Given the description of an element on the screen output the (x, y) to click on. 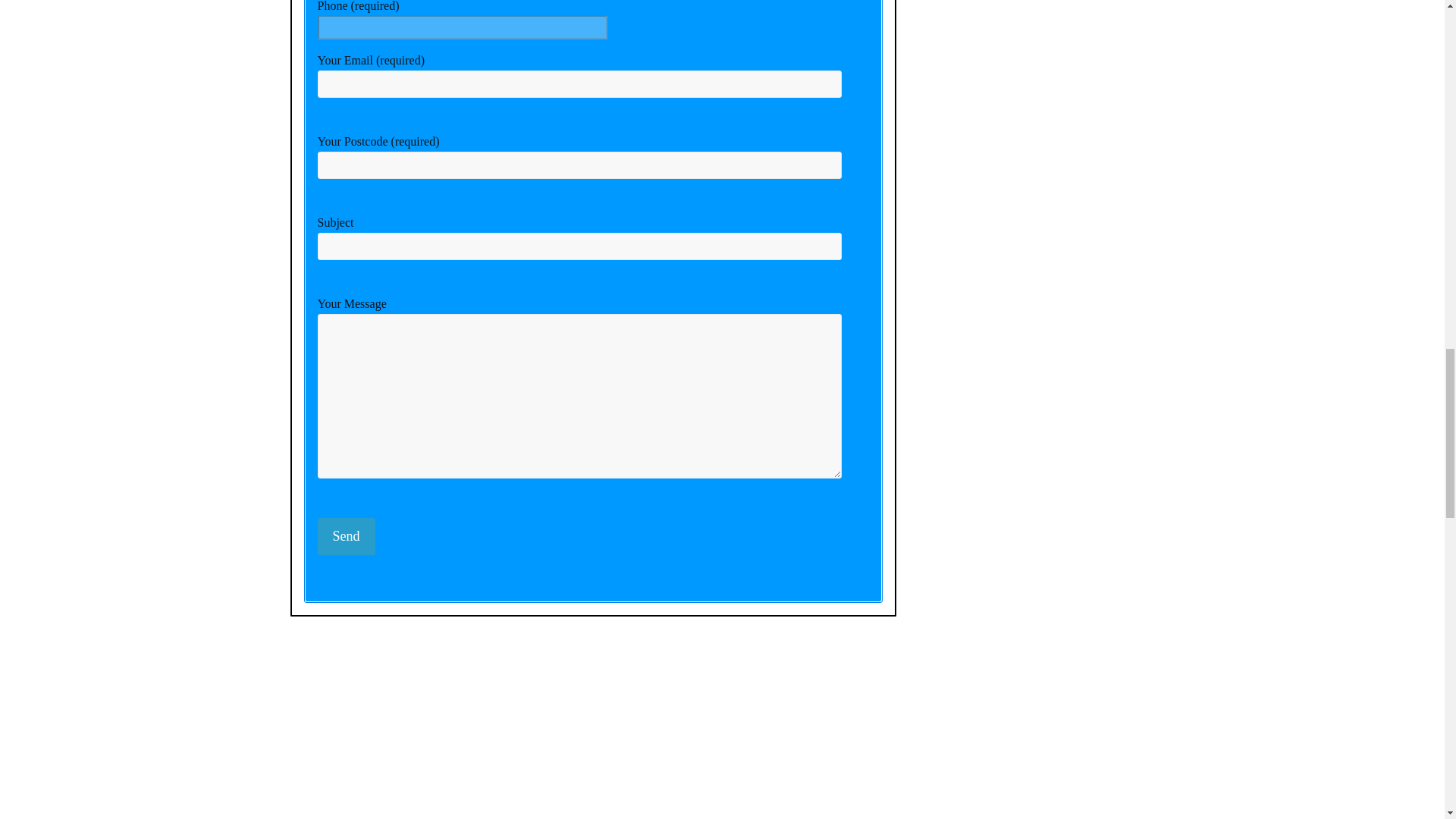
Send (345, 536)
Send (345, 536)
